Given the description of an element on the screen output the (x, y) to click on. 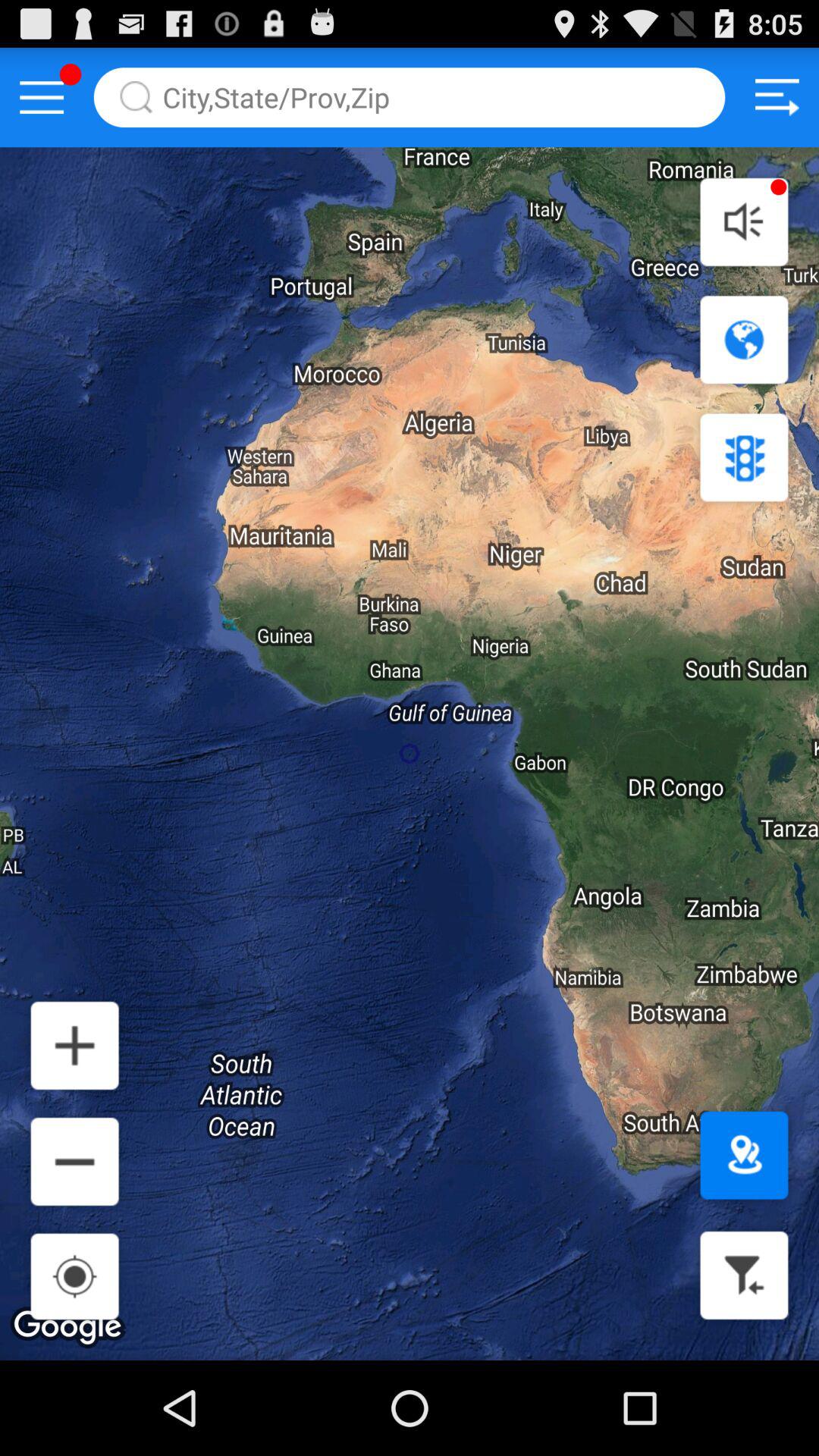
enter the location name (409, 97)
